Given the description of an element on the screen output the (x, y) to click on. 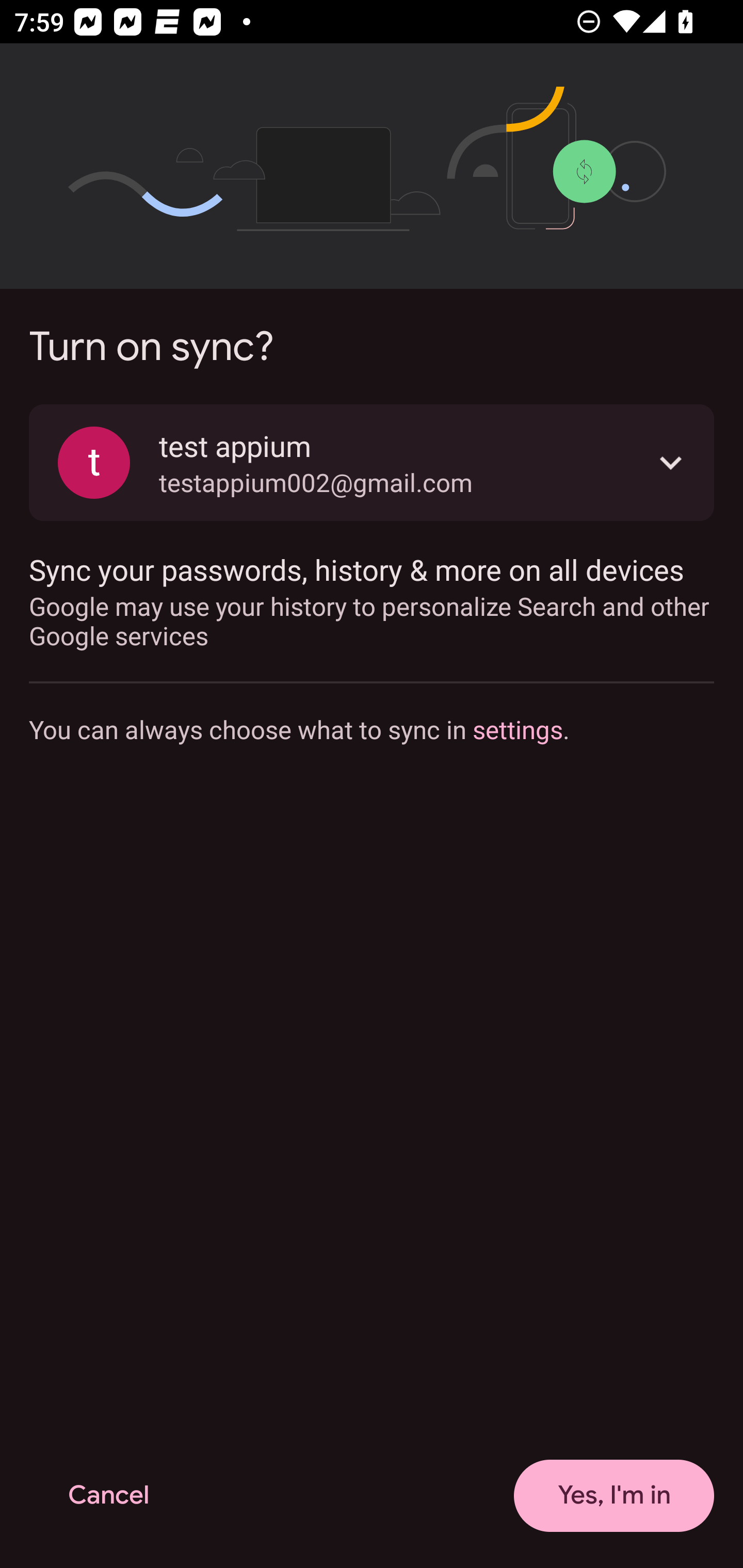
test appium testappium002@gmail.com (371, 462)
Cancel (107, 1495)
Yes, I'm in (614, 1495)
